Given the description of an element on the screen output the (x, y) to click on. 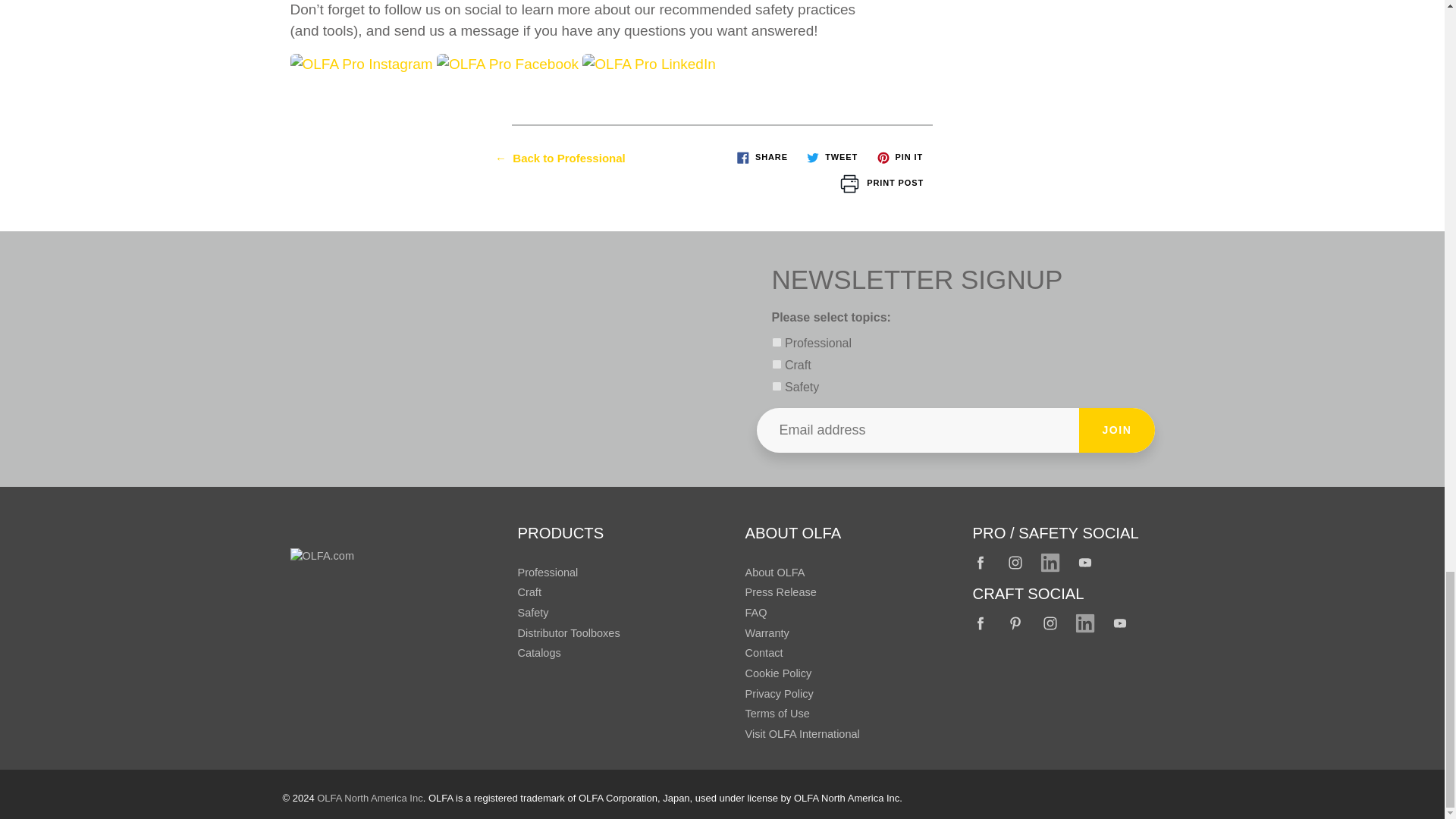
Pin on Pinterest (899, 157)
Share on Facebook (761, 157)
Pinterest (1016, 623)
Facebook (981, 623)
Instagram (1016, 562)
news-pro (776, 342)
news-craft (776, 364)
YouTube (1085, 562)
Facebook (981, 562)
news-safety (776, 386)
